Given the description of an element on the screen output the (x, y) to click on. 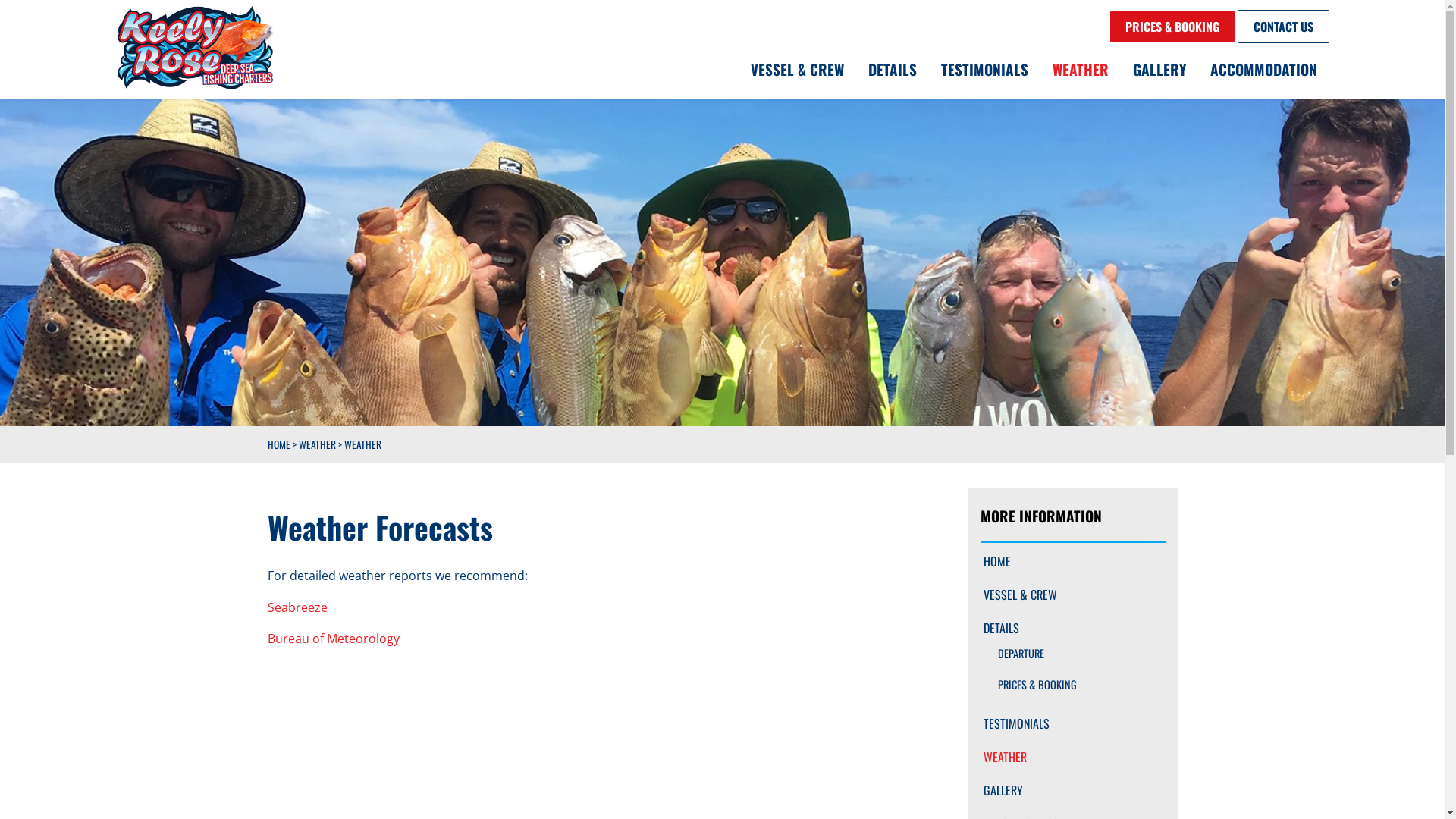
WEATHER Element type: text (1072, 756)
DETAILS Element type: text (1072, 627)
ACCOMMODATION Element type: text (1263, 69)
PRICES & BOOKING Element type: text (1172, 26)
Bureau of Meteorology Element type: text (332, 638)
Rainbow Beach Deep Sea Fishing Element type: hover (194, 47)
TESTIMONIALS Element type: text (1072, 723)
GALLERY Element type: text (1072, 790)
VESSEL & CREW Element type: text (1072, 594)
TESTIMONIALS Element type: text (983, 69)
GALLERY Element type: text (1159, 69)
CONTACT US Element type: text (1283, 26)
HOME Element type: text (277, 443)
HOME Element type: text (1072, 561)
WEATHER Element type: text (316, 443)
VESSEL & CREW Element type: text (797, 69)
DETAILS Element type: text (891, 69)
DEPARTURE Element type: text (1072, 654)
WEATHER Element type: text (1080, 69)
PRICES & BOOKING Element type: text (1072, 685)
Seabreeze Element type: text (296, 607)
